Given the description of an element on the screen output the (x, y) to click on. 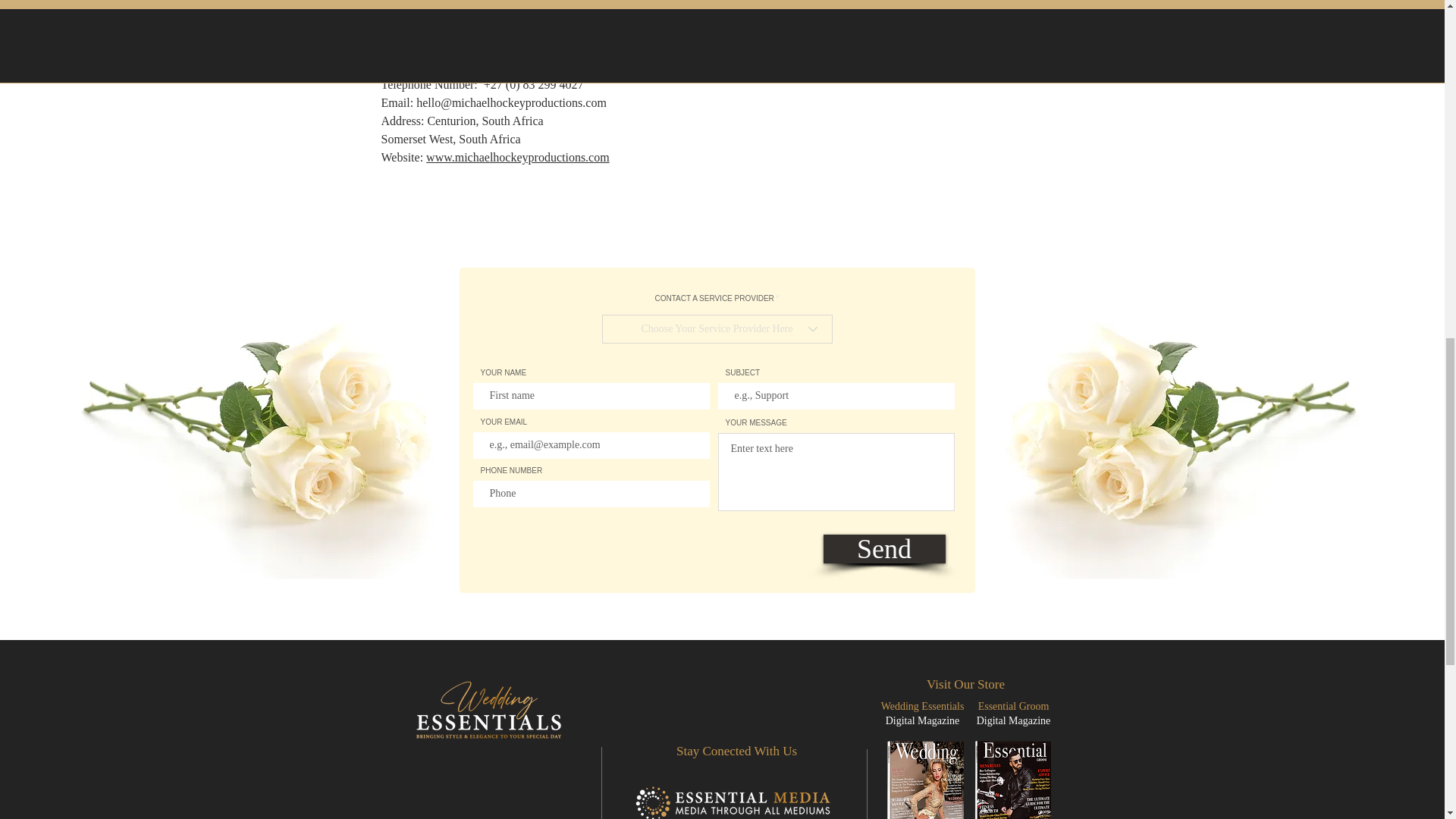
Involved young friends looking at the we (251, 419)
Send (884, 548)
Involved young friends looking at the we (1186, 419)
Visit Website (414, 29)
www.michaelhockeyproductions.com (518, 156)
